Given the description of an element on the screen output the (x, y) to click on. 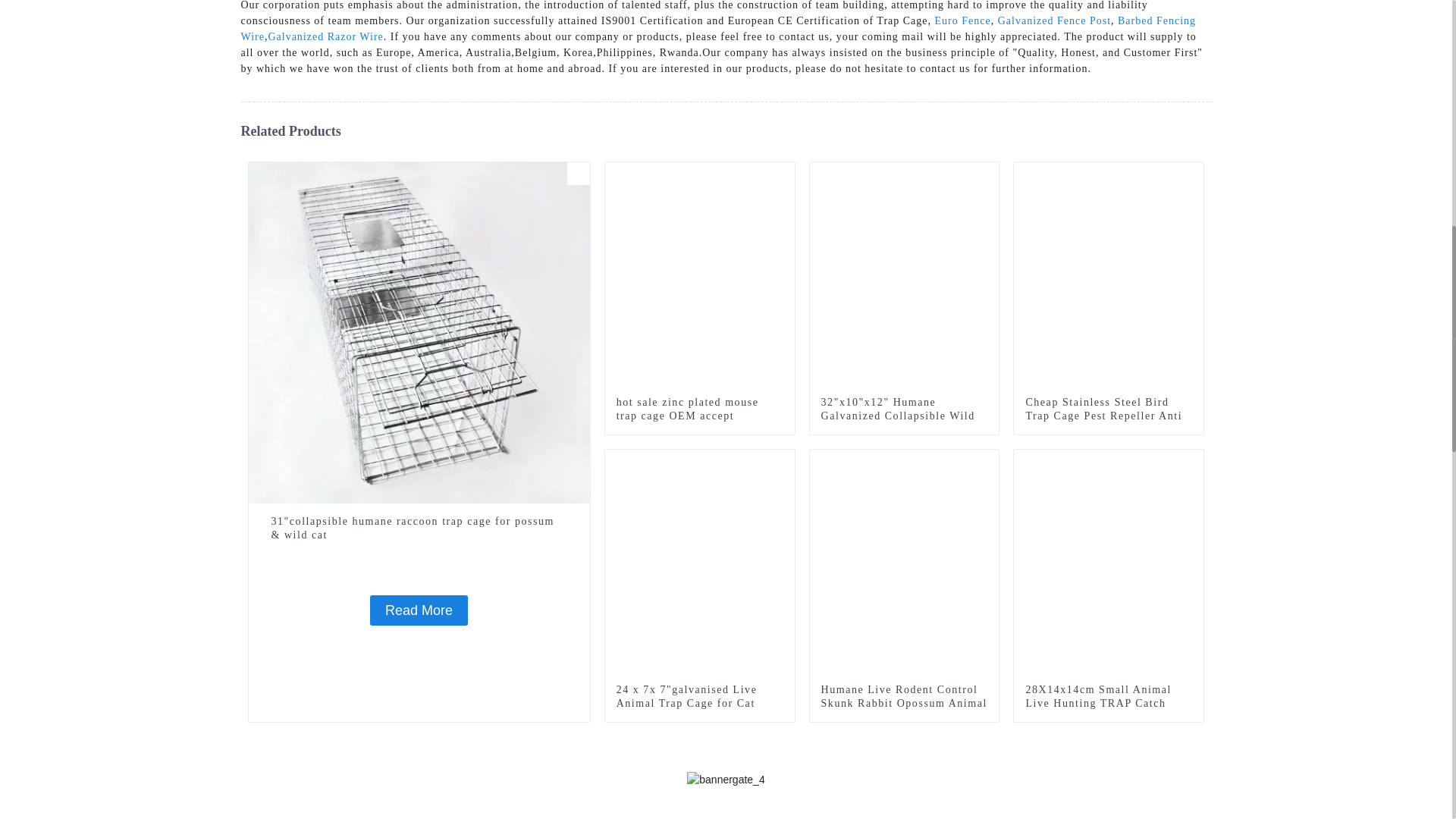
Euro Fence (962, 20)
hot sale zinc plated mouse trap cage OEM accept (699, 409)
Galvanized Razor Wire (324, 36)
Galvanized Fence Post (1053, 20)
Barbed Fencing Wire (718, 28)
